Given the description of an element on the screen output the (x, y) to click on. 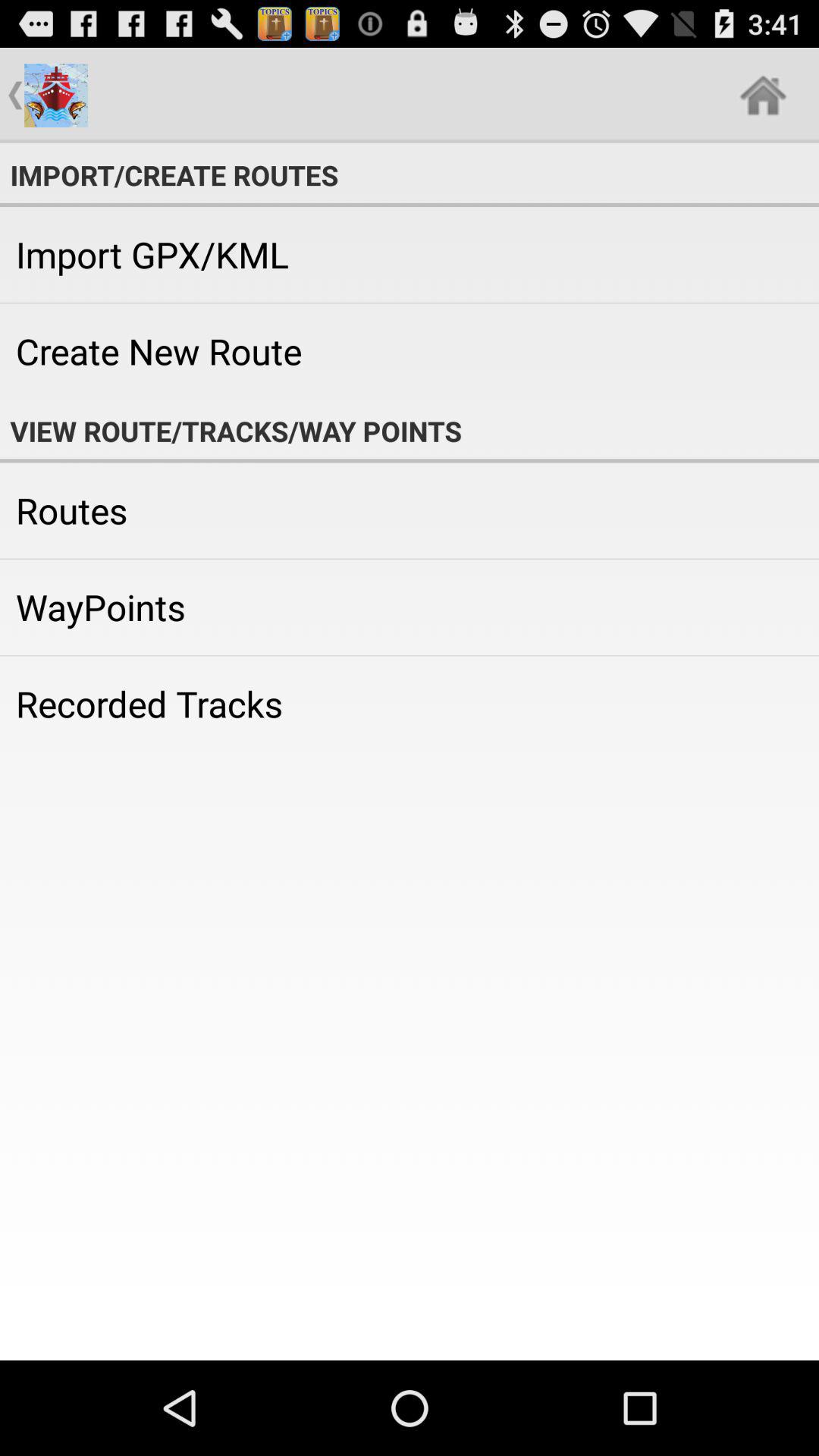
choose icon below the routes (409, 607)
